Given the description of an element on the screen output the (x, y) to click on. 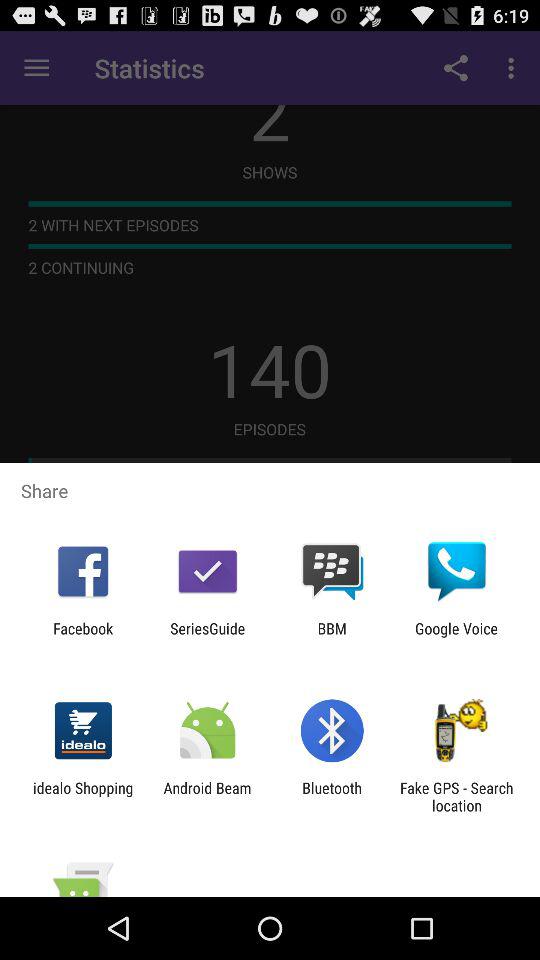
select item to the right of the idealo shopping item (207, 796)
